Given the description of an element on the screen output the (x, y) to click on. 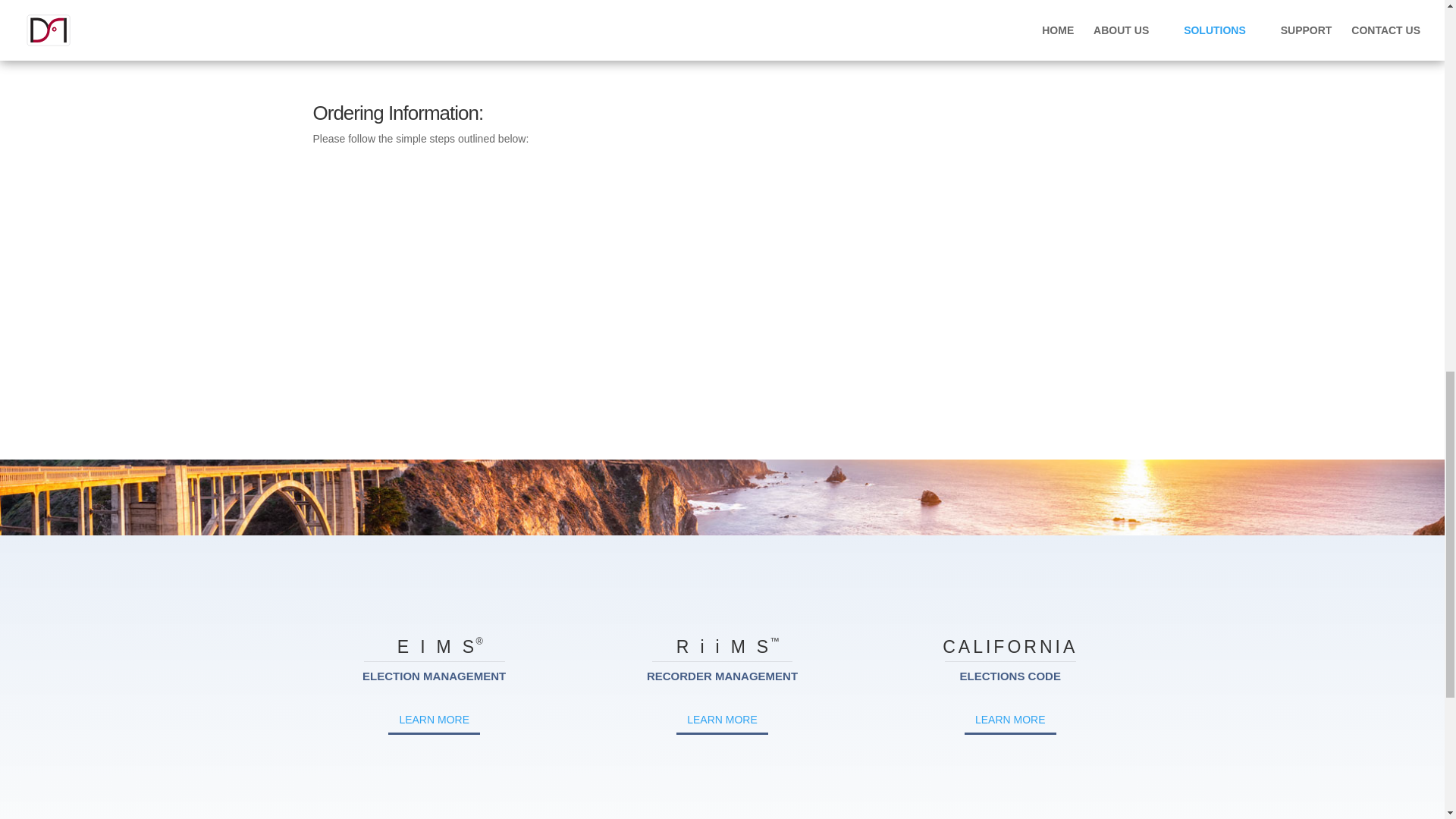
LEARN MORE (434, 720)
LEARN MORE (722, 720)
LEARN MORE (1010, 720)
